Given the description of an element on the screen output the (x, y) to click on. 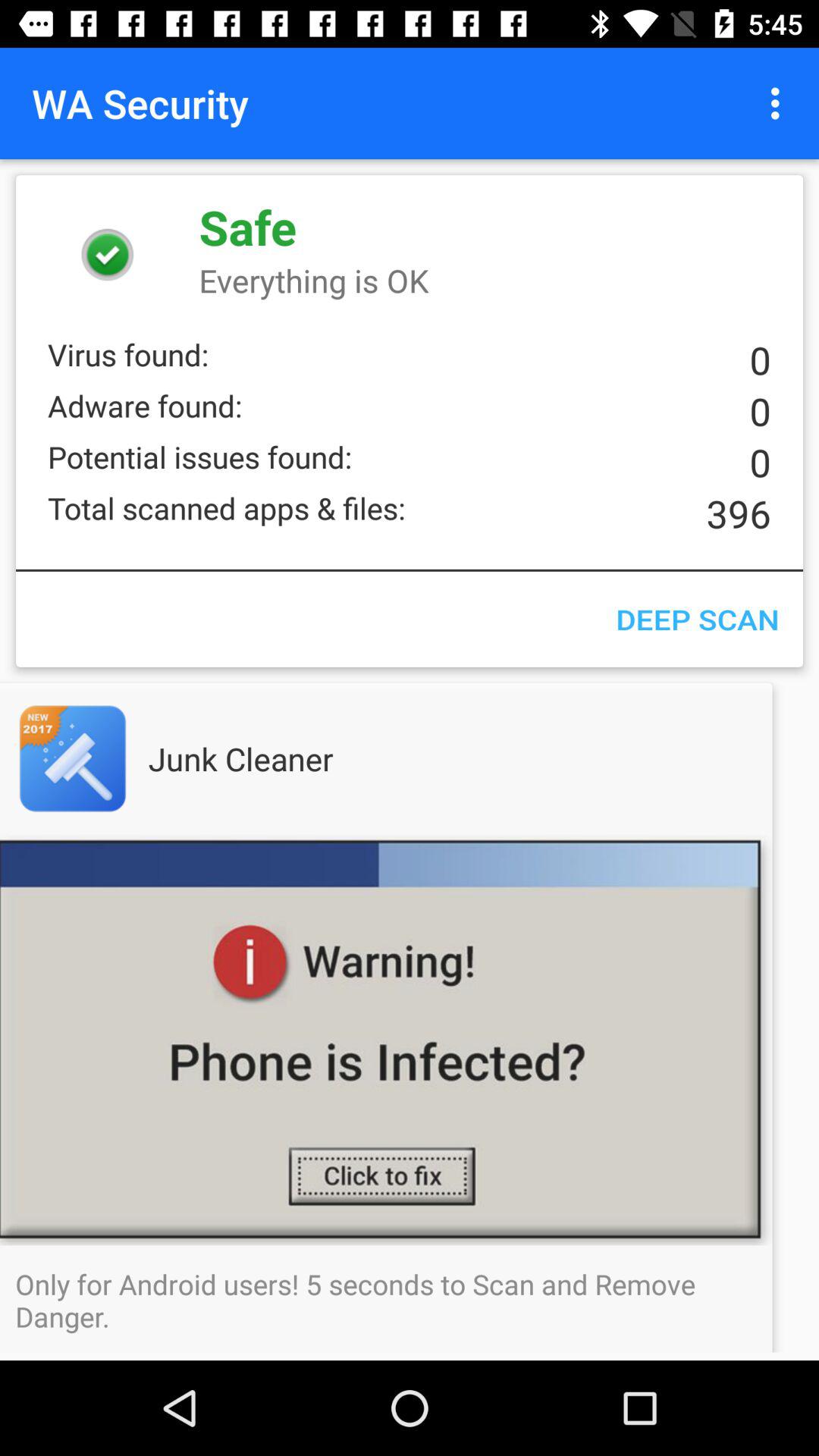
launch item to the left of junk cleaner icon (103, 758)
